Given the description of an element on the screen output the (x, y) to click on. 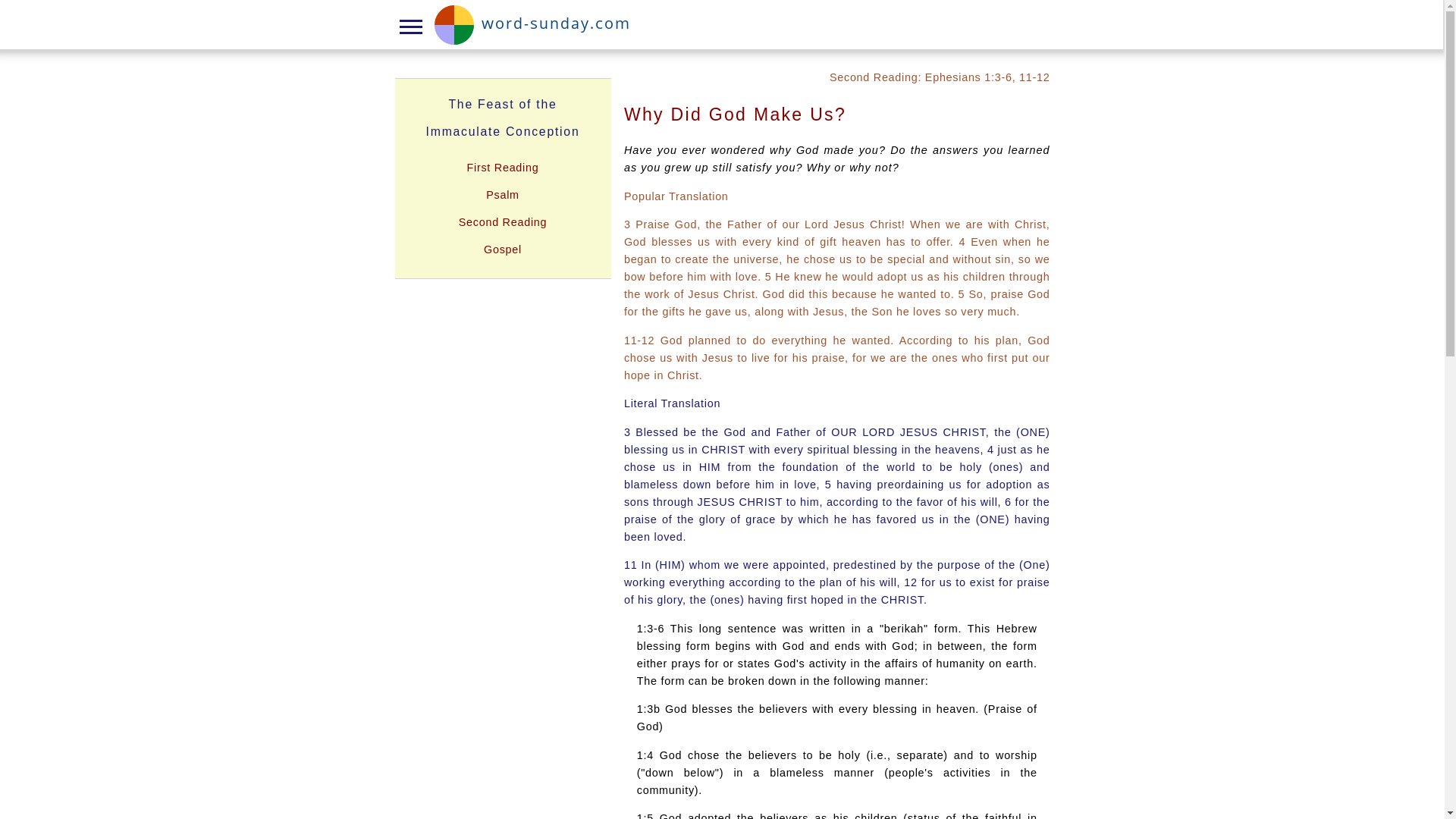
First Reading (502, 167)
Gospel (502, 249)
Second Reading (502, 222)
Psalm (502, 194)
